Given the description of an element on the screen output the (x, y) to click on. 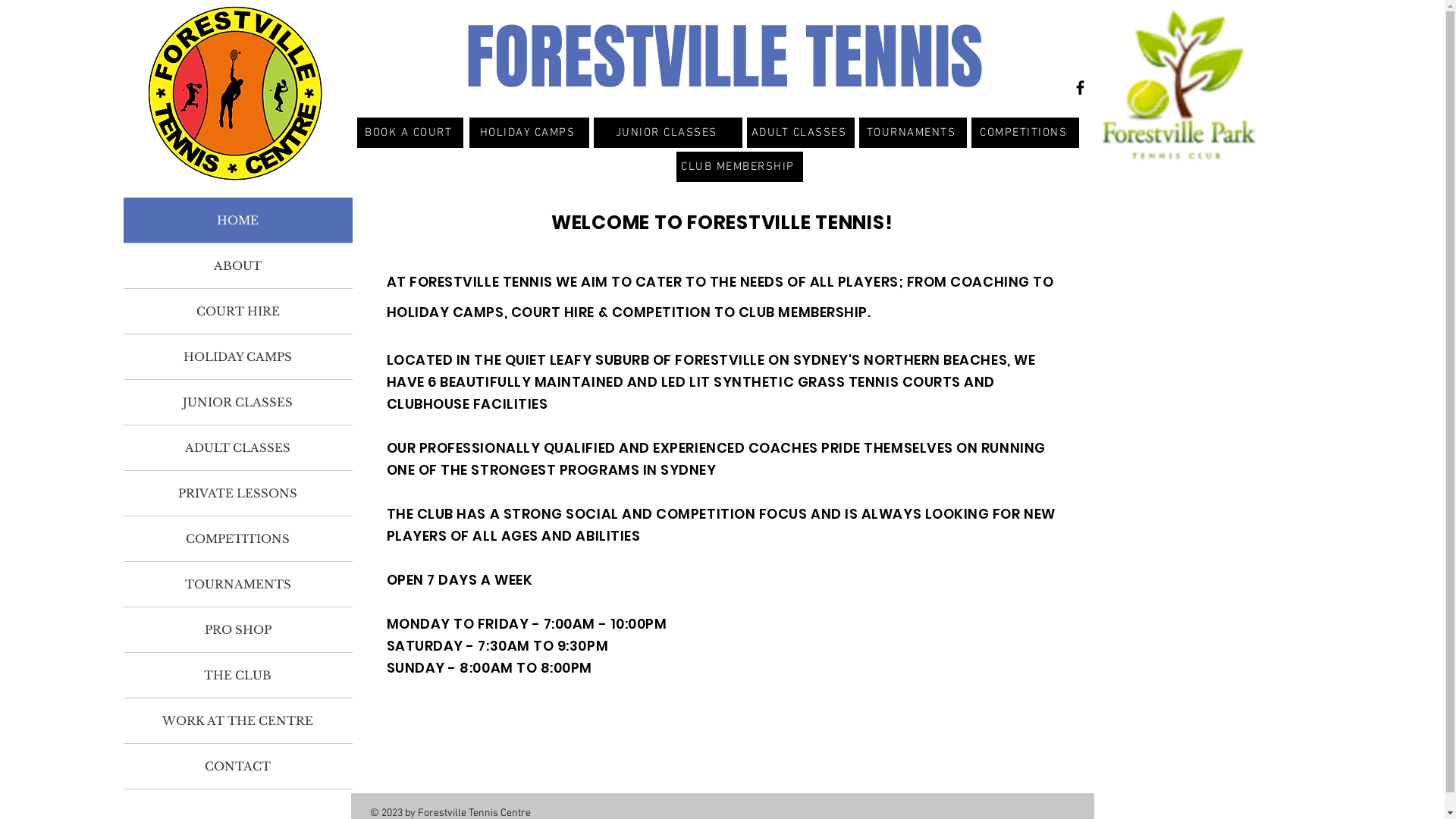
CONTACT Element type: text (236, 765)
JUNIOR CLASSES Element type: text (667, 132)
BOOK A COURT Element type: text (409, 132)
ADULT CLASSES Element type: text (799, 132)
TOURNAMENTS Element type: text (236, 583)
HOME Element type: text (236, 219)
PRIVATE LESSONS Element type: text (236, 492)
HOLIDAY CAMPS Element type: text (236, 356)
COMPETITIONS Element type: text (236, 538)
ADULT CLASSES Element type: text (236, 447)
TOURNAMENTS Element type: text (912, 132)
THE CLUB Element type: text (236, 674)
COMPETITIONS Element type: text (1024, 132)
JUNIOR CLASSES Element type: text (236, 401)
HOLIDAY CAMPS Element type: text (528, 132)
ABOUT Element type: text (236, 265)
PRO SHOP Element type: text (236, 629)
COURT HIRE Element type: text (236, 310)
WORK AT THE CENTRE Element type: text (236, 720)
CLUB MEMBERSHIP Element type: text (739, 166)
